Given the description of an element on the screen output the (x, y) to click on. 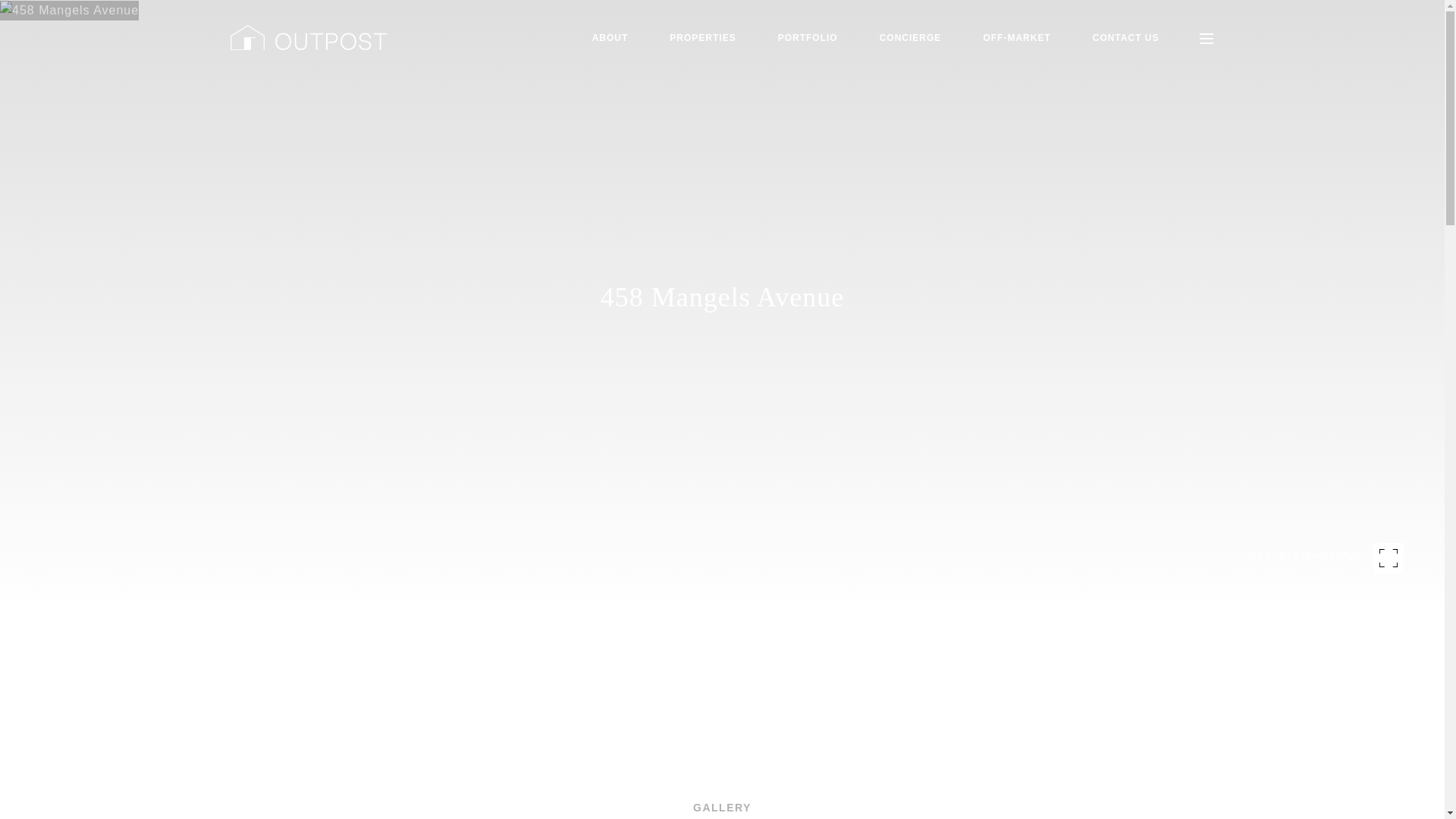
GALLERY (721, 802)
ABOUT (610, 38)
CONCIERGE (910, 38)
CONTACT US (1125, 38)
PORTFOLIO (807, 38)
OFF-MARKET (1015, 38)
PROPERTIES (702, 38)
